Given the description of an element on the screen output the (x, y) to click on. 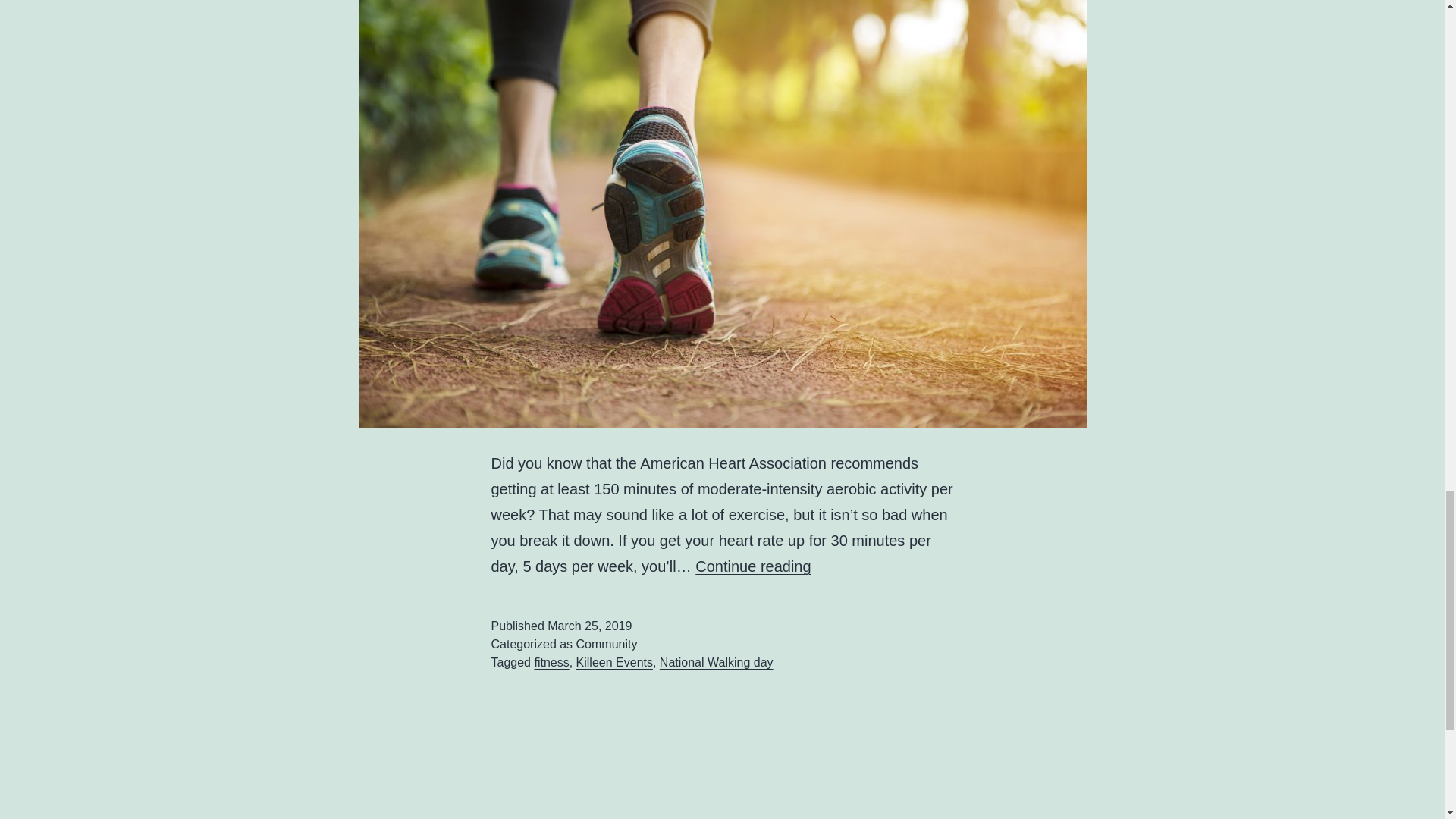
fitness (551, 662)
National Walking day (716, 662)
Killeen Events (614, 662)
Community (606, 644)
